Given the description of an element on the screen output the (x, y) to click on. 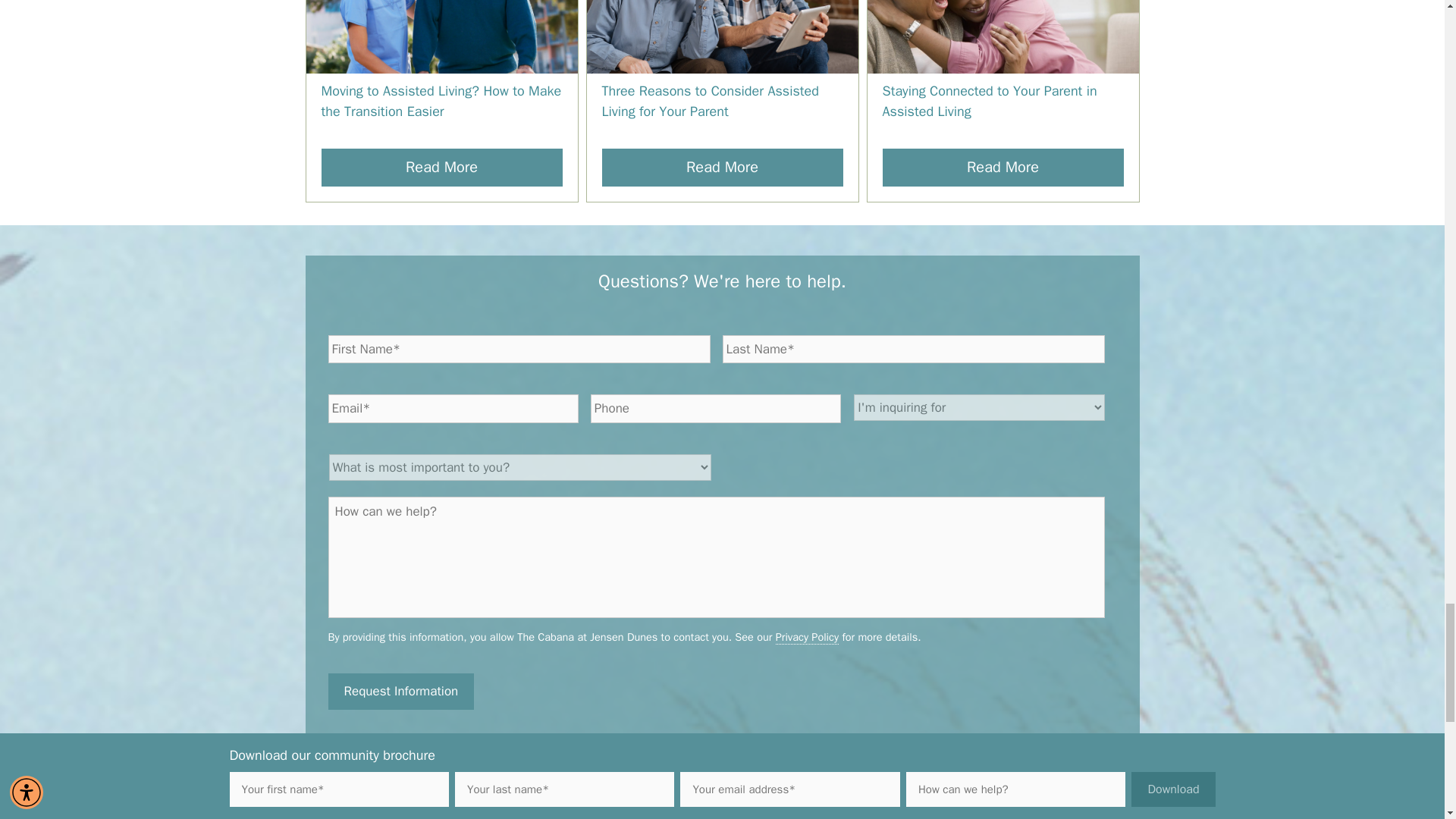
Request Information (400, 691)
